Given the description of an element on the screen output the (x, y) to click on. 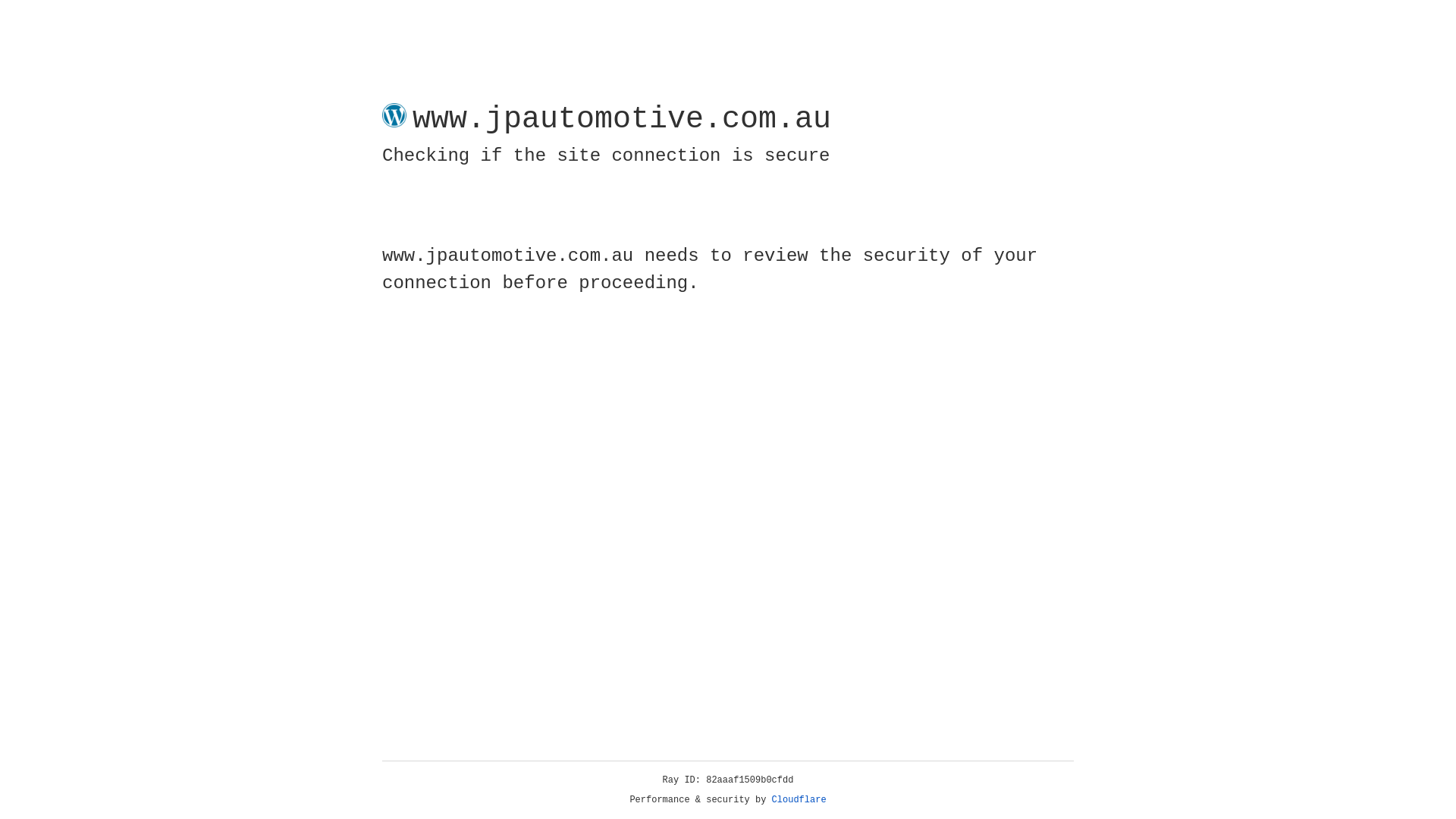
Cloudflare Element type: text (798, 799)
